Given the description of an element on the screen output the (x, y) to click on. 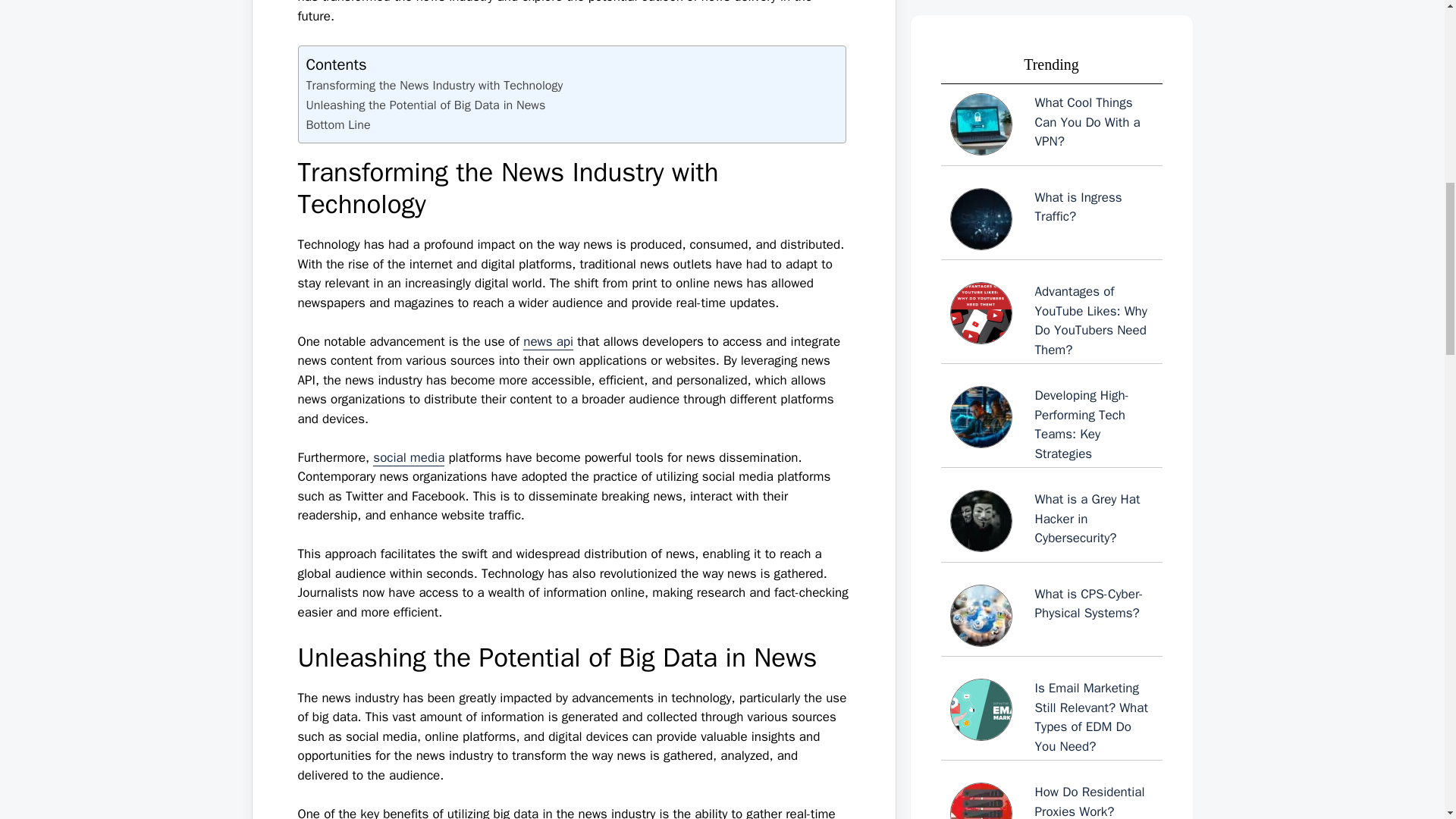
Transforming the News Industry with Technology (434, 85)
social media (408, 457)
Bottom Line (338, 125)
What is a Security Framework? Top 4 Security Frameworks (1051, 146)
news api (547, 341)
How Do Residential Proxies Work? (1051, 51)
Is Blockchain a DDoS Defense? (1051, 226)
Bottom Line (338, 125)
Unleashing the Potential of Big Data in News (425, 105)
Unleashing the Potential of Big Data in News (425, 105)
